Given the description of an element on the screen output the (x, y) to click on. 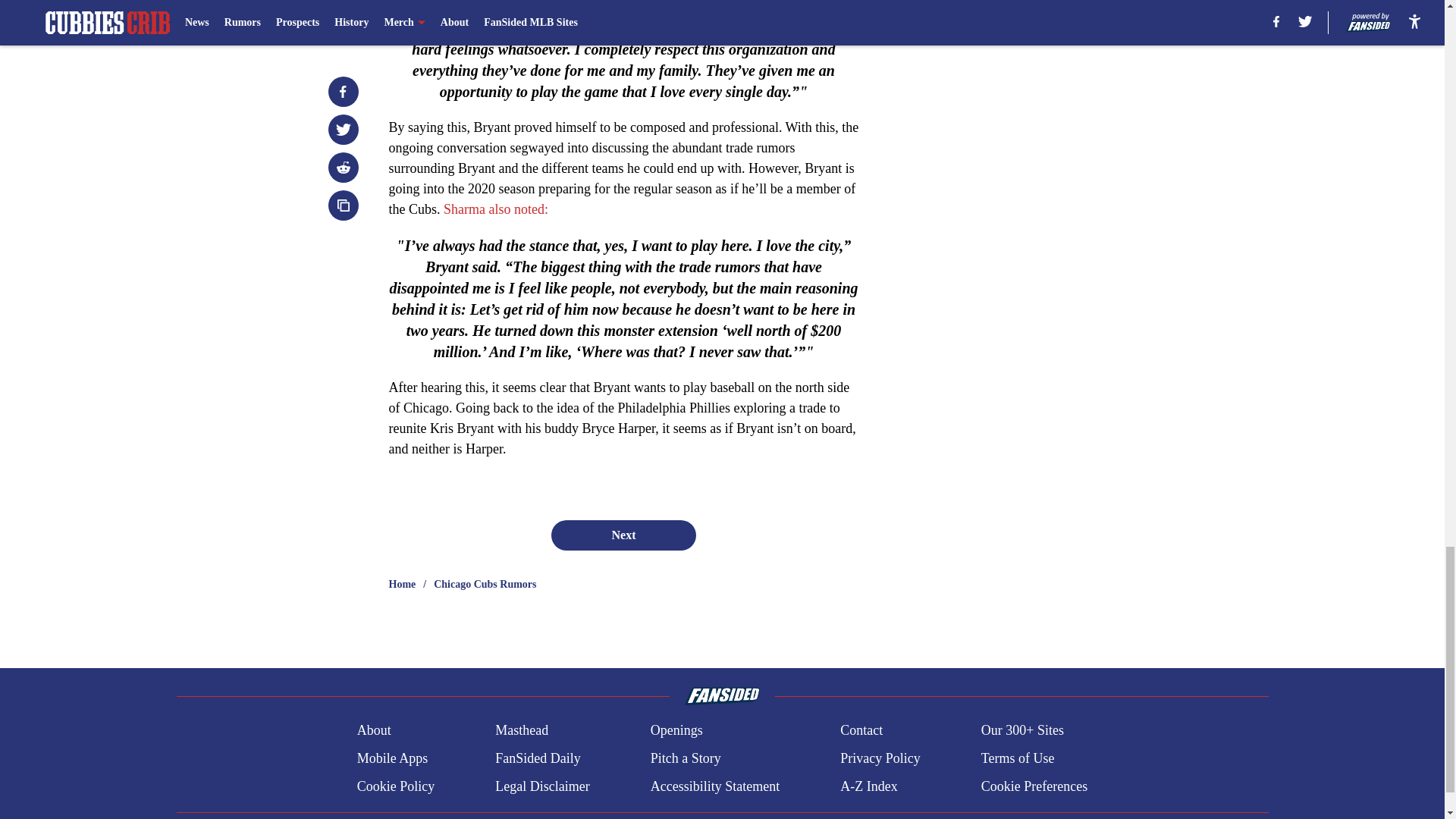
Contact (861, 730)
Home (401, 584)
Next (622, 535)
About (373, 730)
FanSided Daily (537, 758)
Openings (676, 730)
Chicago Cubs Rumors (484, 584)
Terms of Use (1017, 758)
Sharma also noted: (496, 209)
Privacy Policy (880, 758)
Masthead (521, 730)
Pitch a Story (685, 758)
Mobile Apps (392, 758)
